Given the description of an element on the screen output the (x, y) to click on. 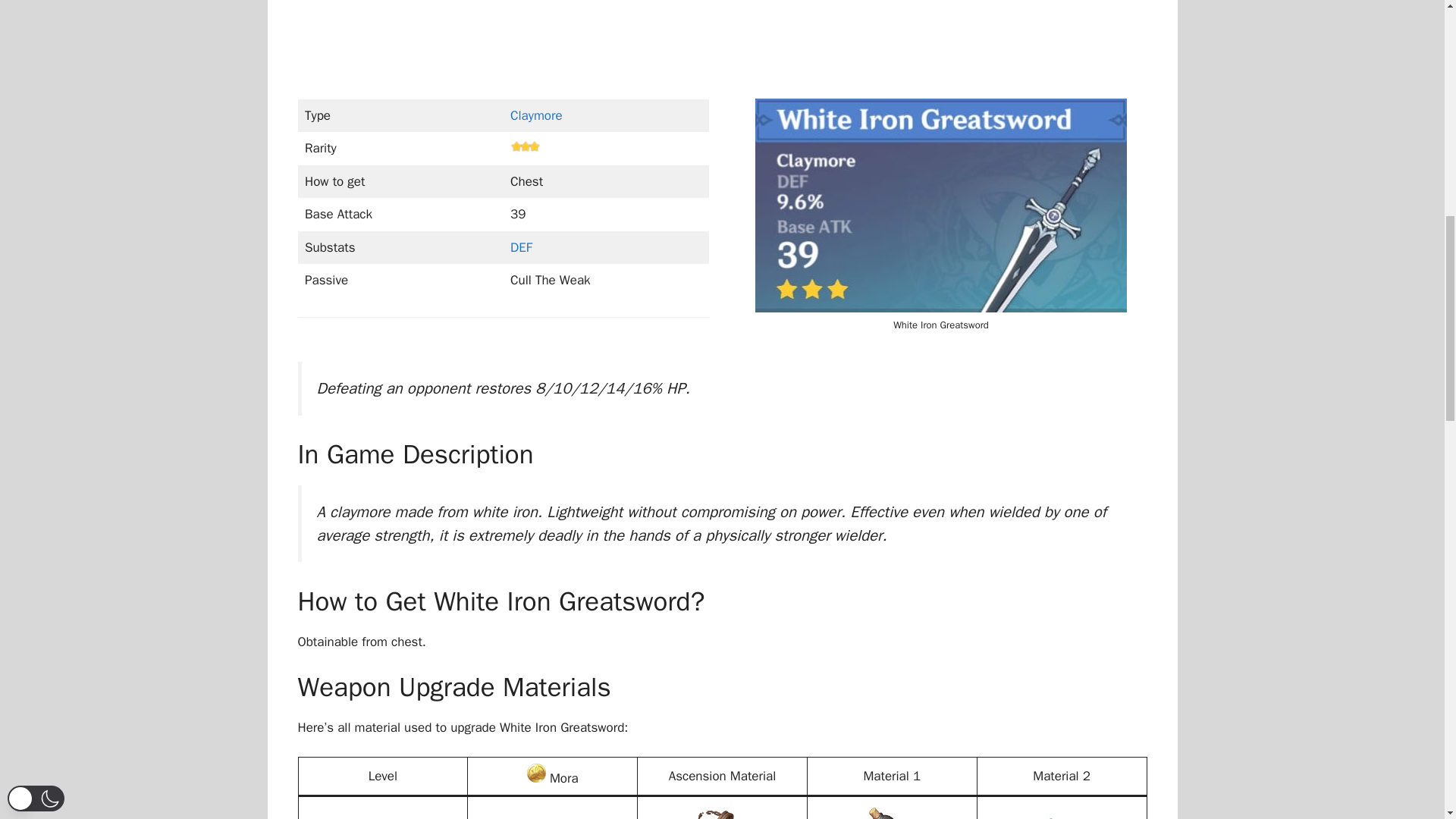
Slime Condensate (1054, 811)
DEF (521, 247)
White Iron Greatsword (940, 205)
3 Star Rarity (525, 146)
White Iron Greatsword (536, 772)
Fetters Of The Dandelion Gladiator (715, 811)
Claymore (536, 115)
Chaos Device (884, 811)
